Given the description of an element on the screen output the (x, y) to click on. 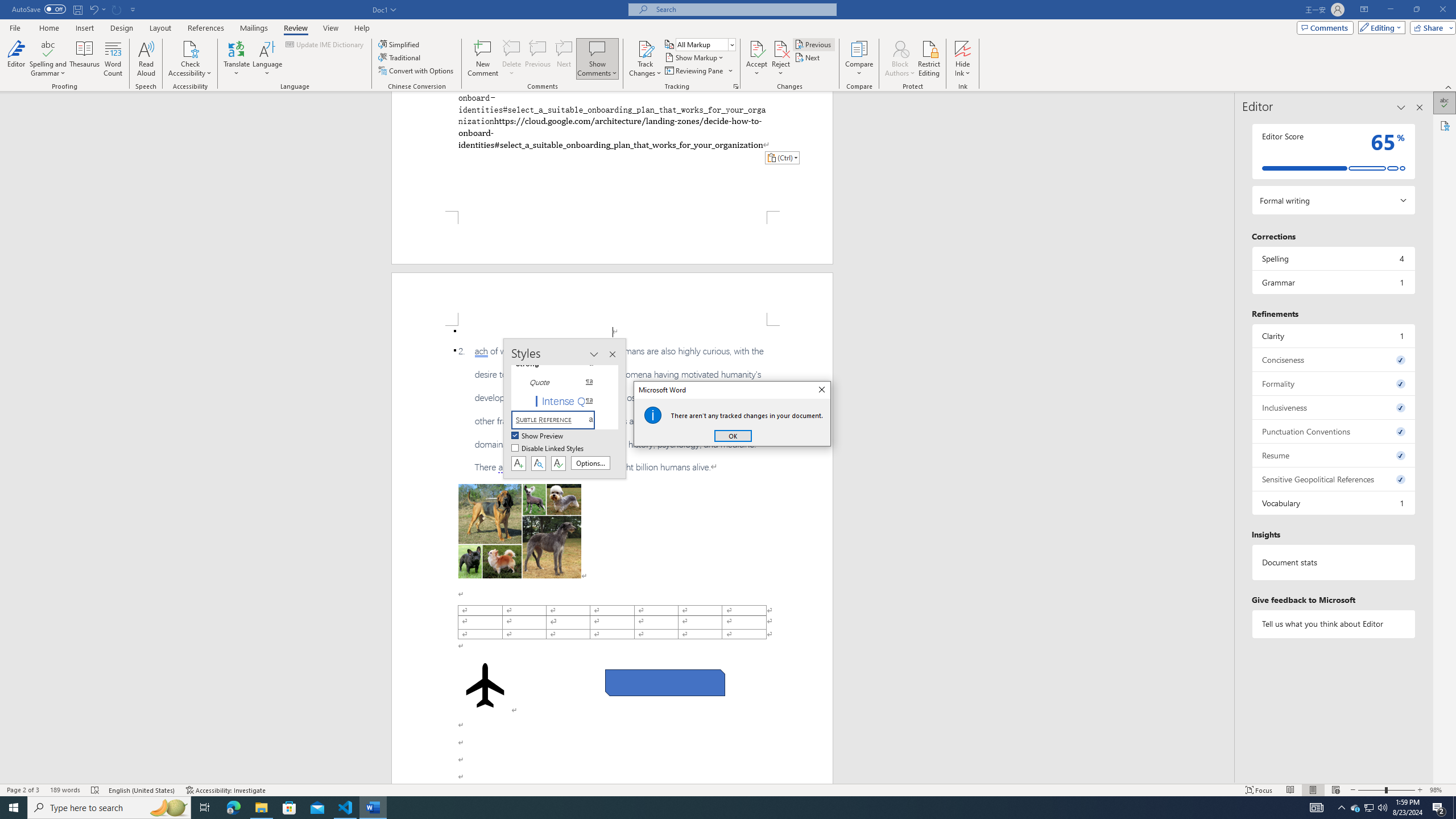
OK (732, 435)
Action Center, 2 new notifications (1439, 807)
Microsoft Store (289, 807)
Can't Repeat (1368, 807)
New Comment (117, 9)
Show Preview (482, 58)
File Explorer - 1 running window (537, 436)
User Promoted Notification Area (261, 807)
Update IME Dictionary... (1368, 807)
